Given the description of an element on the screen output the (x, y) to click on. 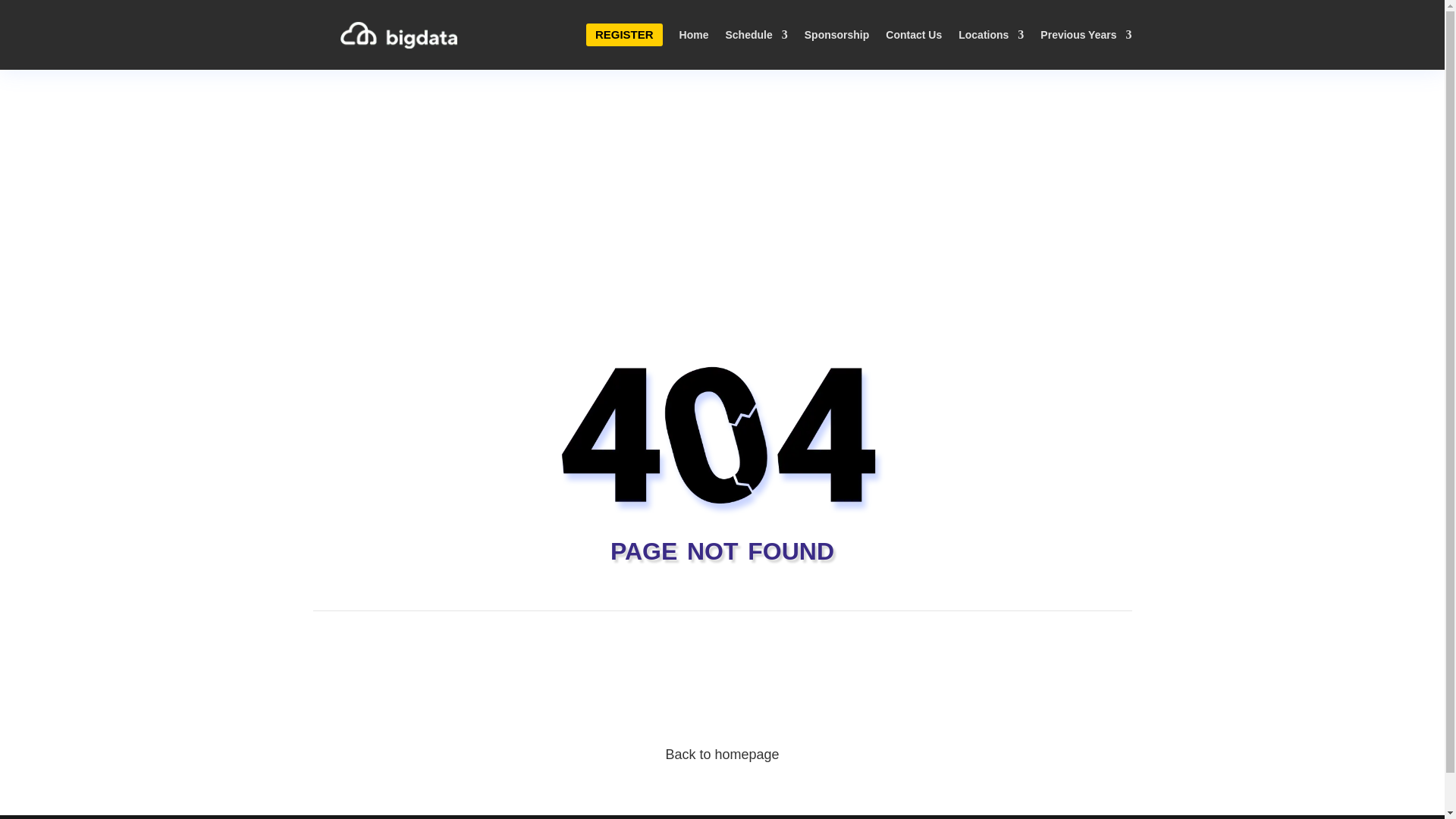
Back to homepage (721, 754)
Sponsorship (837, 34)
Previous Years (1086, 34)
REGISTER (624, 34)
Locations (990, 34)
Schedule (756, 34)
